Given the description of an element on the screen output the (x, y) to click on. 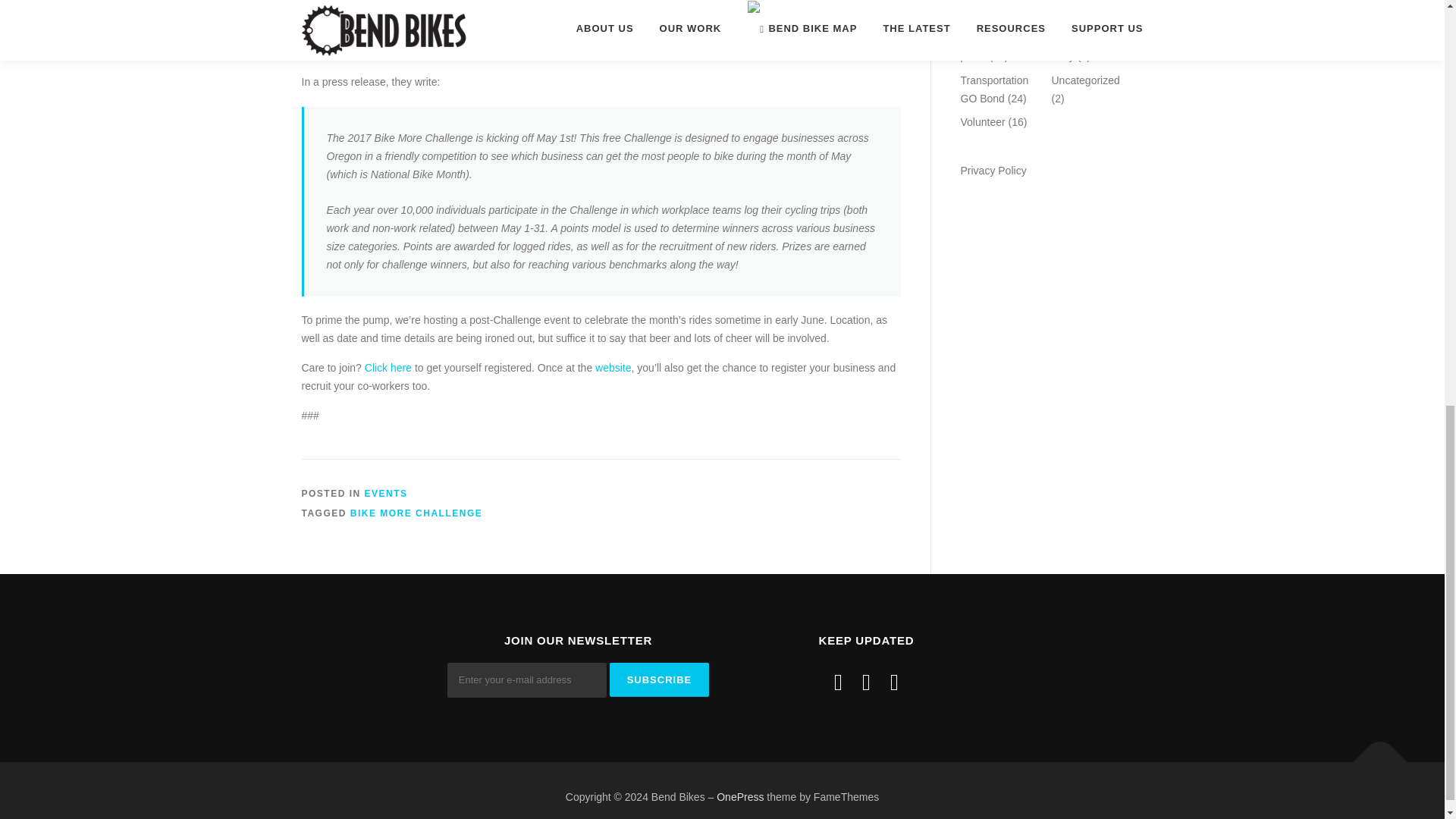
Subscribe (660, 679)
EVENTS (386, 493)
Back To Top (1372, 753)
Click here (388, 367)
BIKE MORE CHALLENGE (416, 512)
website (612, 367)
